Given the description of an element on the screen output the (x, y) to click on. 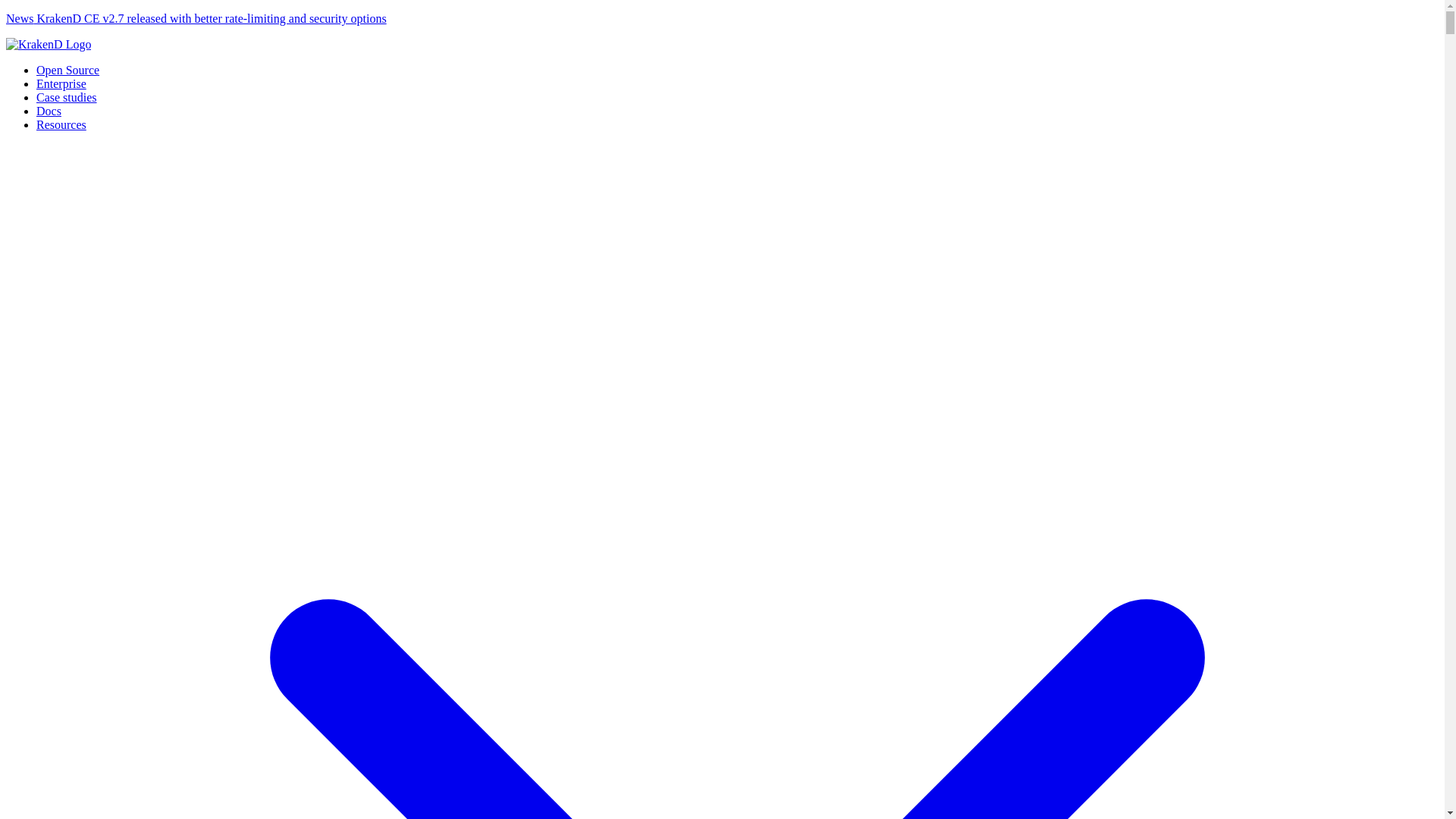
Case studies (66, 97)
Enterprise (60, 83)
Home (47, 43)
Docs (48, 110)
Open Source (67, 69)
